Given the description of an element on the screen output the (x, y) to click on. 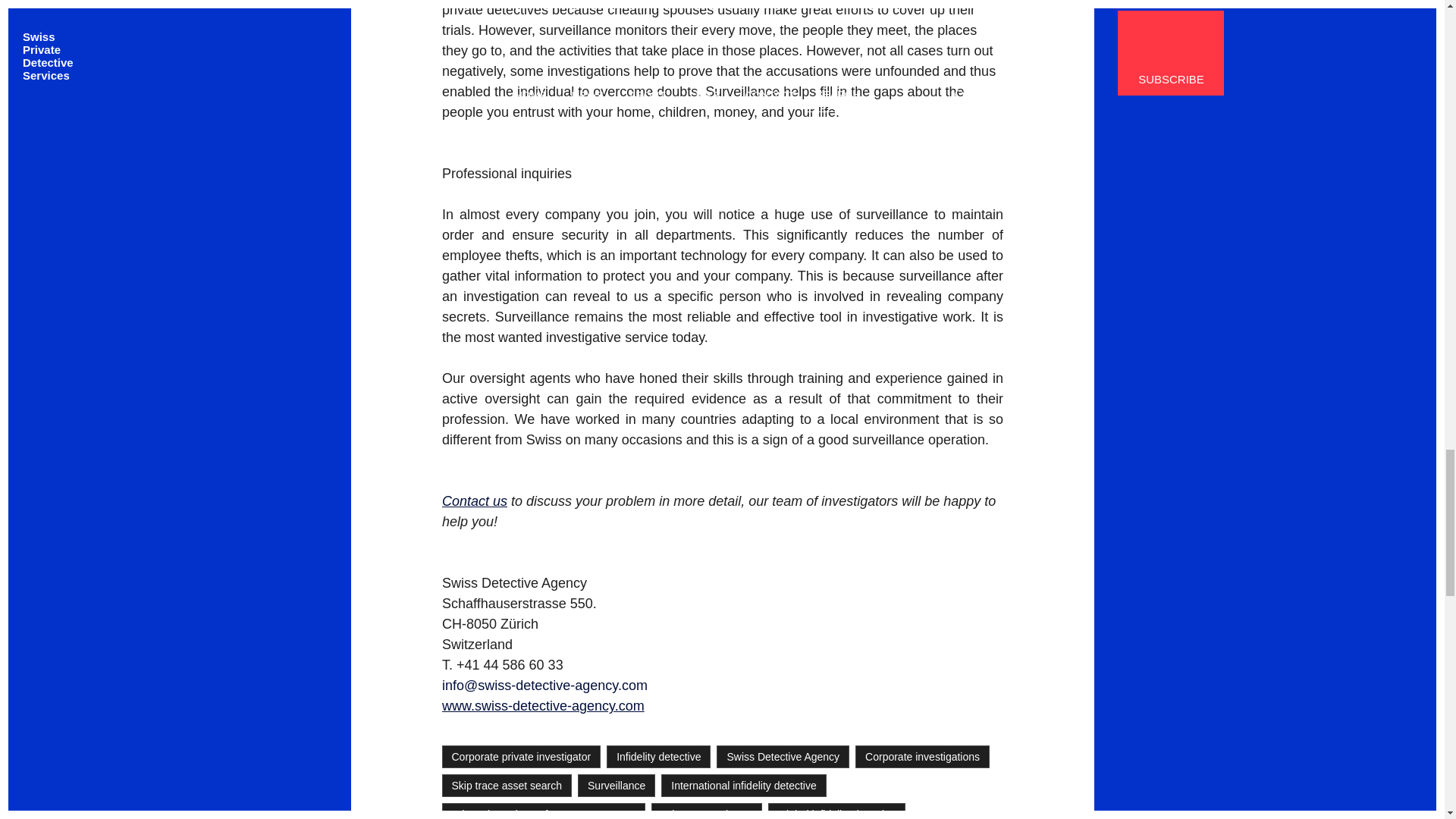
Surveillance (616, 784)
Corporate private investigator (520, 756)
Global infidelity detective (836, 811)
International infidelity detective (743, 784)
www.swiss-detective-agency.com (542, 705)
Private investigator for corporate cases (543, 811)
Swiss Detective Agency (782, 756)
Infidelity detective (658, 756)
Corporate investigations (923, 756)
Skip trace asset search (506, 784)
Contact us (473, 500)
Private Investigator (705, 811)
